Given the description of an element on the screen output the (x, y) to click on. 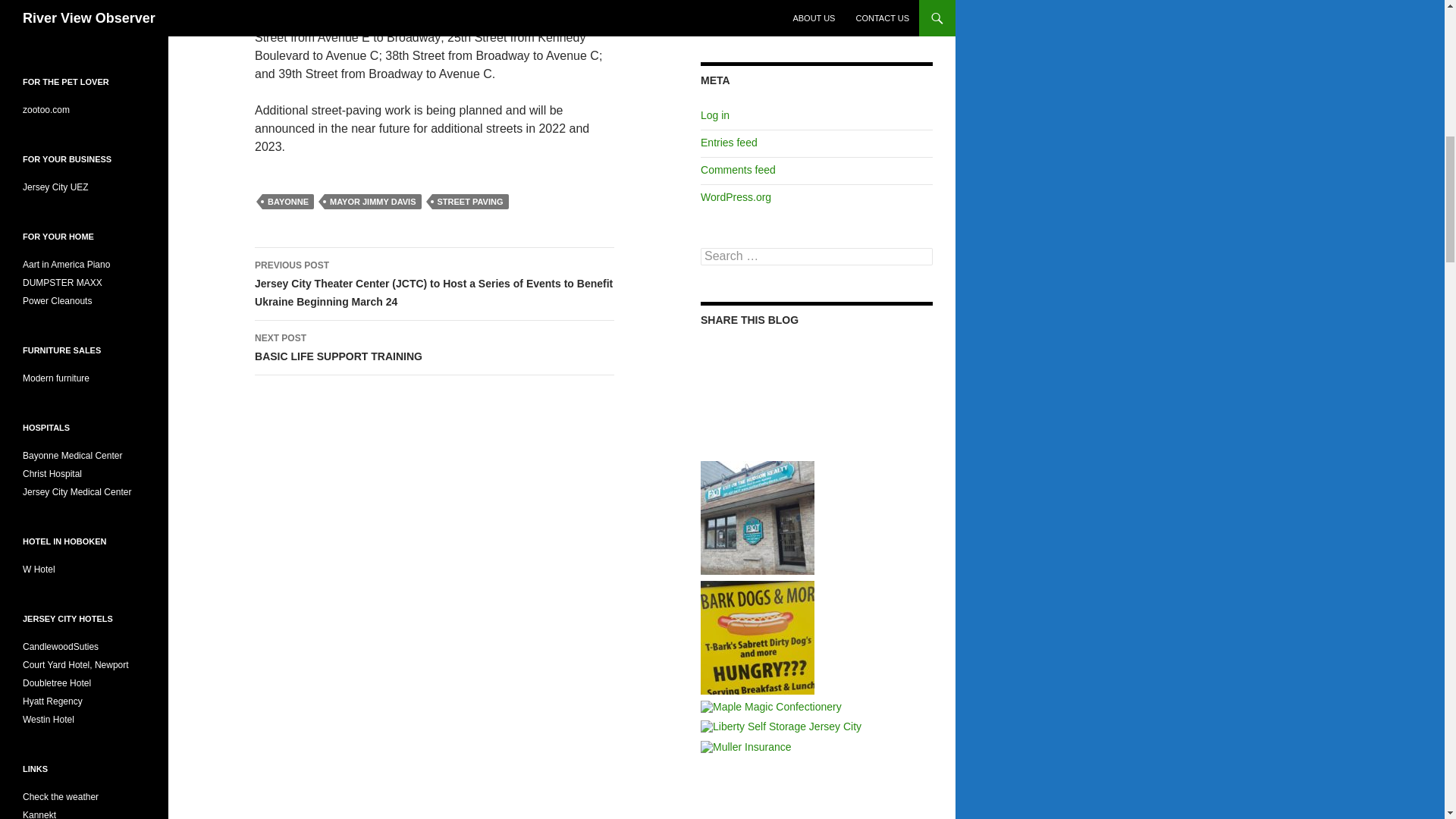
Maple Magic Confectionery (770, 706)
BAYONNE (288, 201)
STREET PAVING (470, 201)
WordPress.org (735, 196)
Exit On the Hudson Realty (756, 516)
T-Barks Foods and more (756, 635)
Log in (714, 114)
Entries feed (728, 142)
Liberty Self Storage Jersey City (780, 726)
